Given the description of an element on the screen output the (x, y) to click on. 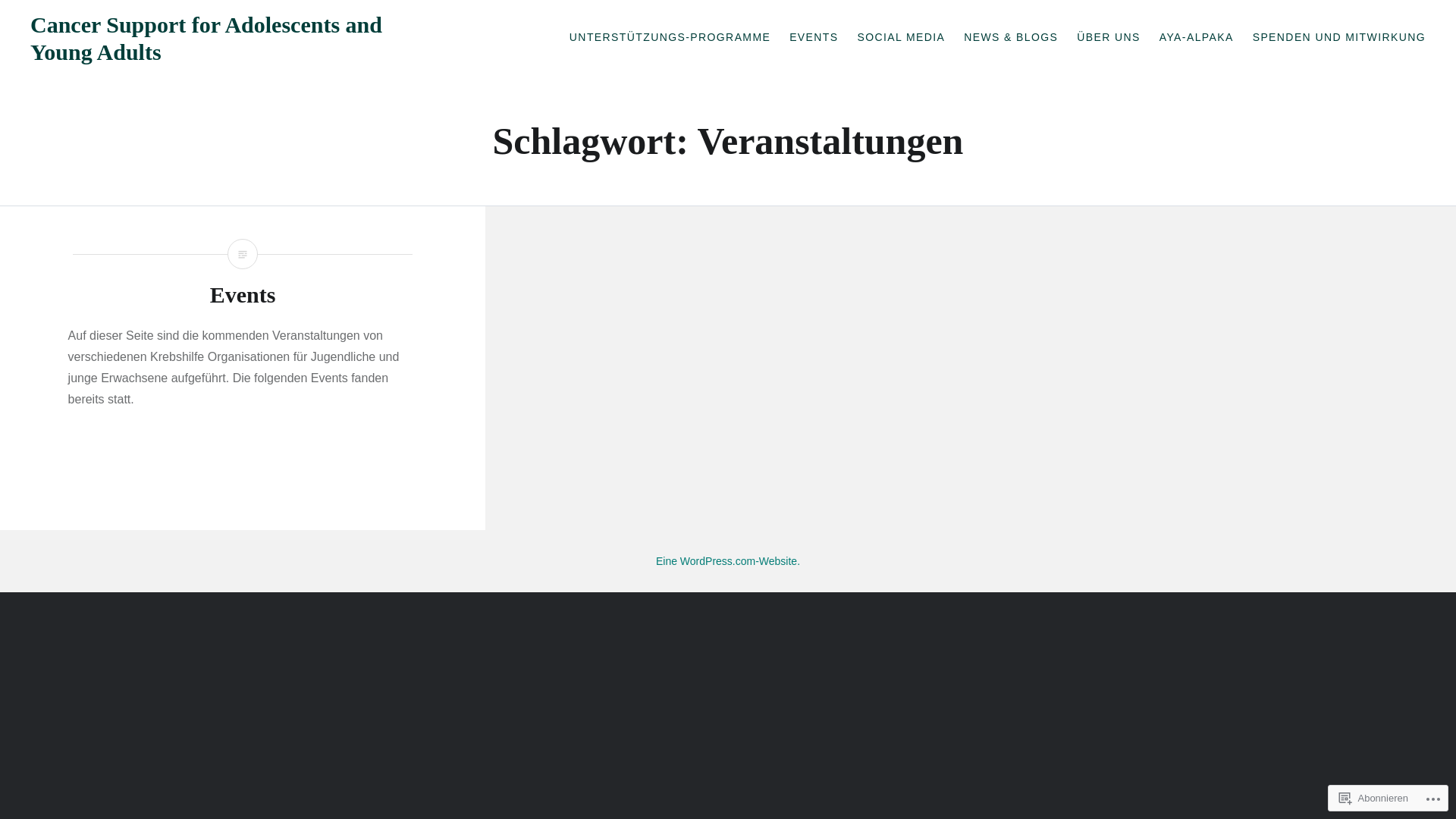
EVENTS Element type: text (813, 37)
SPENDEN UND MITWIRKUNG Element type: text (1338, 37)
NEWS & BLOGS Element type: text (1010, 37)
SOCIAL MEDIA Element type: text (900, 37)
Cancer Support for Adolescents and Young Adults Element type: text (206, 38)
Abonnieren Element type: text (1373, 797)
Events Element type: text (243, 294)
Eine WordPress.com-Website. Element type: text (727, 561)
AYA-ALPAKA Element type: text (1196, 37)
